Given the description of an element on the screen output the (x, y) to click on. 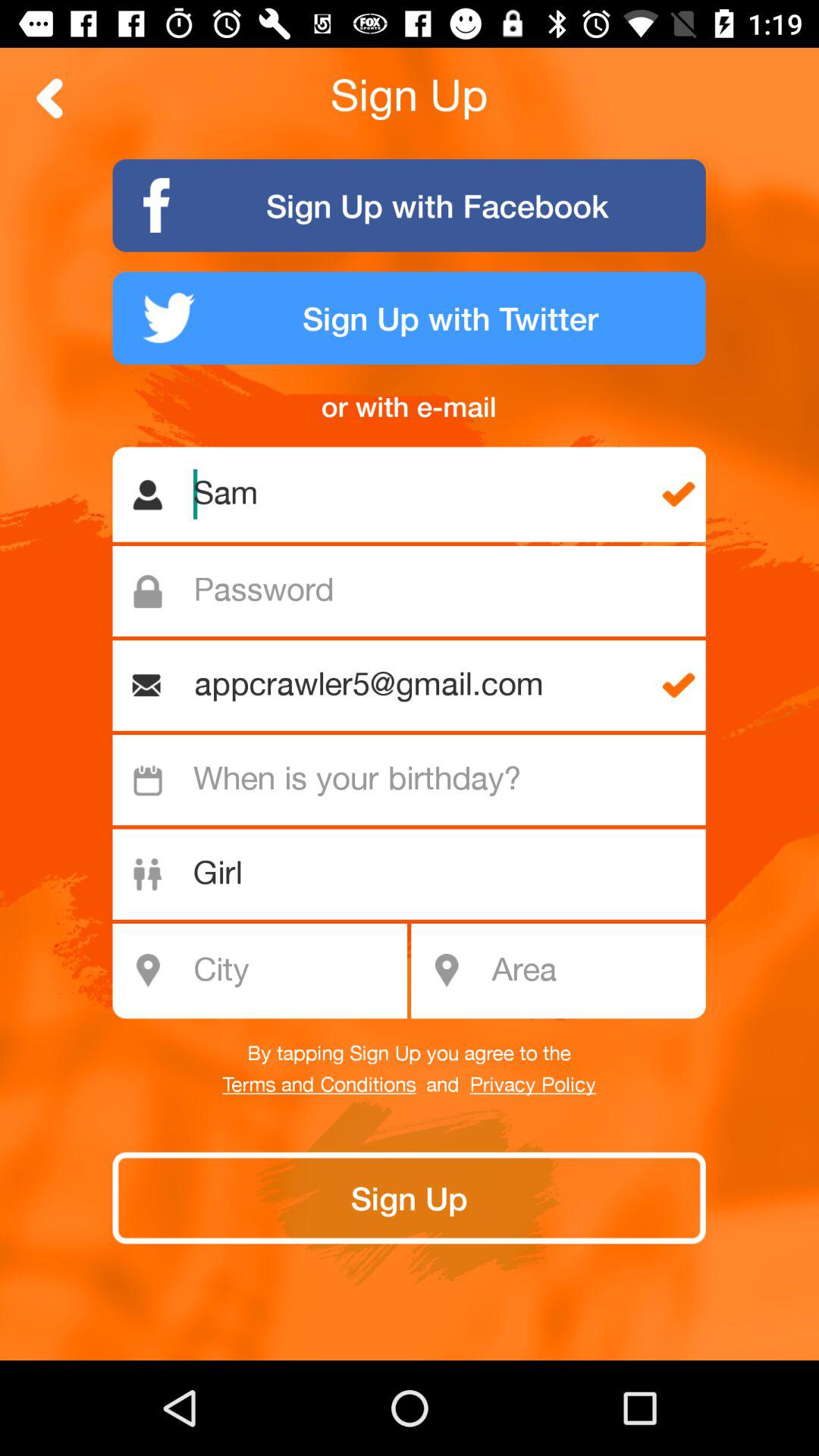
textbox to fill in city name (268, 970)
